Given the description of an element on the screen output the (x, y) to click on. 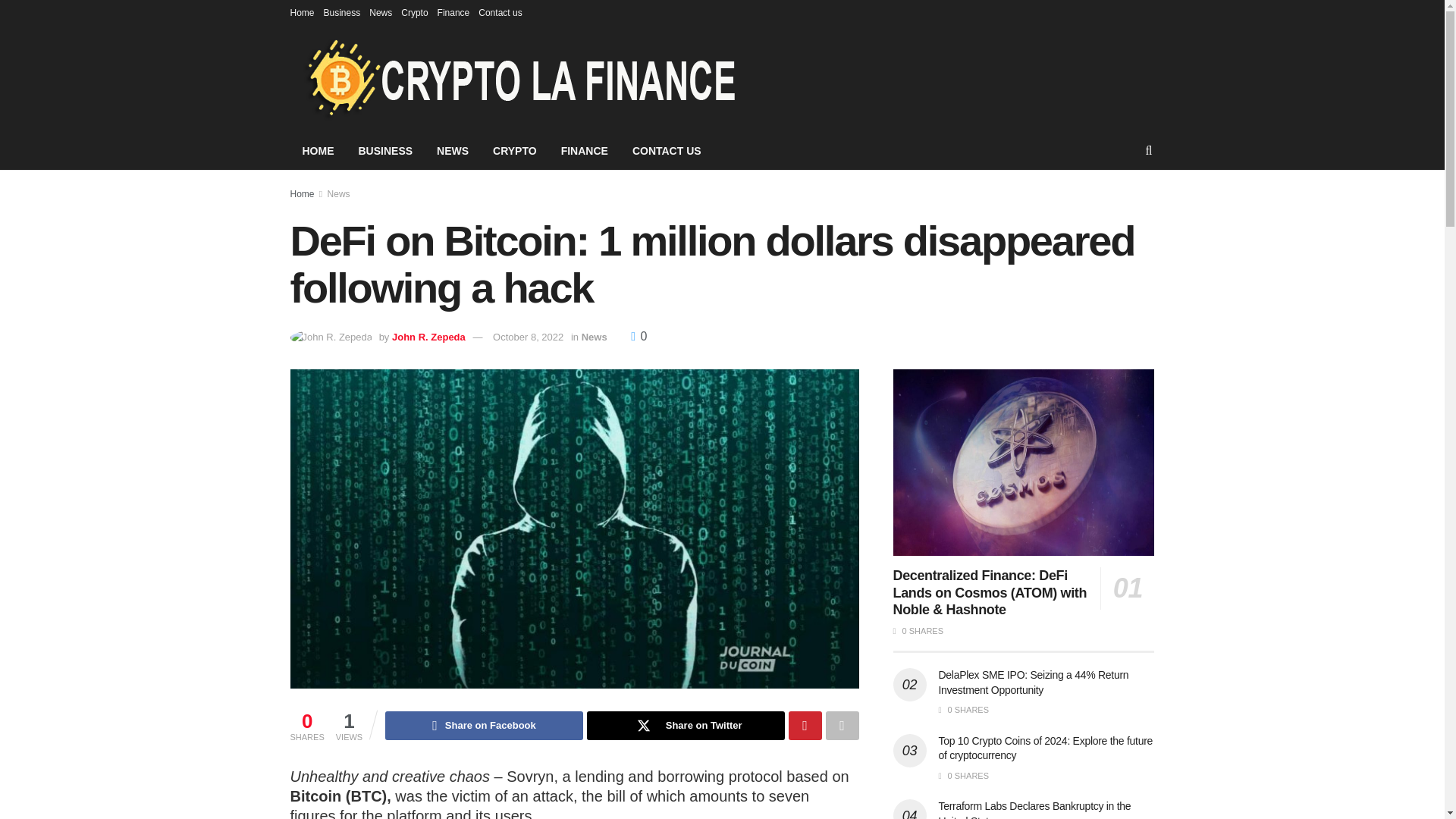
Finance (454, 12)
Share on Twitter (685, 725)
FINANCE (584, 150)
Share on Facebook (484, 725)
CONTACT US (666, 150)
Contact us (500, 12)
CRYPTO (514, 150)
October 8, 2022 (528, 337)
News (338, 194)
John R. Zepeda (428, 337)
